Given the description of an element on the screen output the (x, y) to click on. 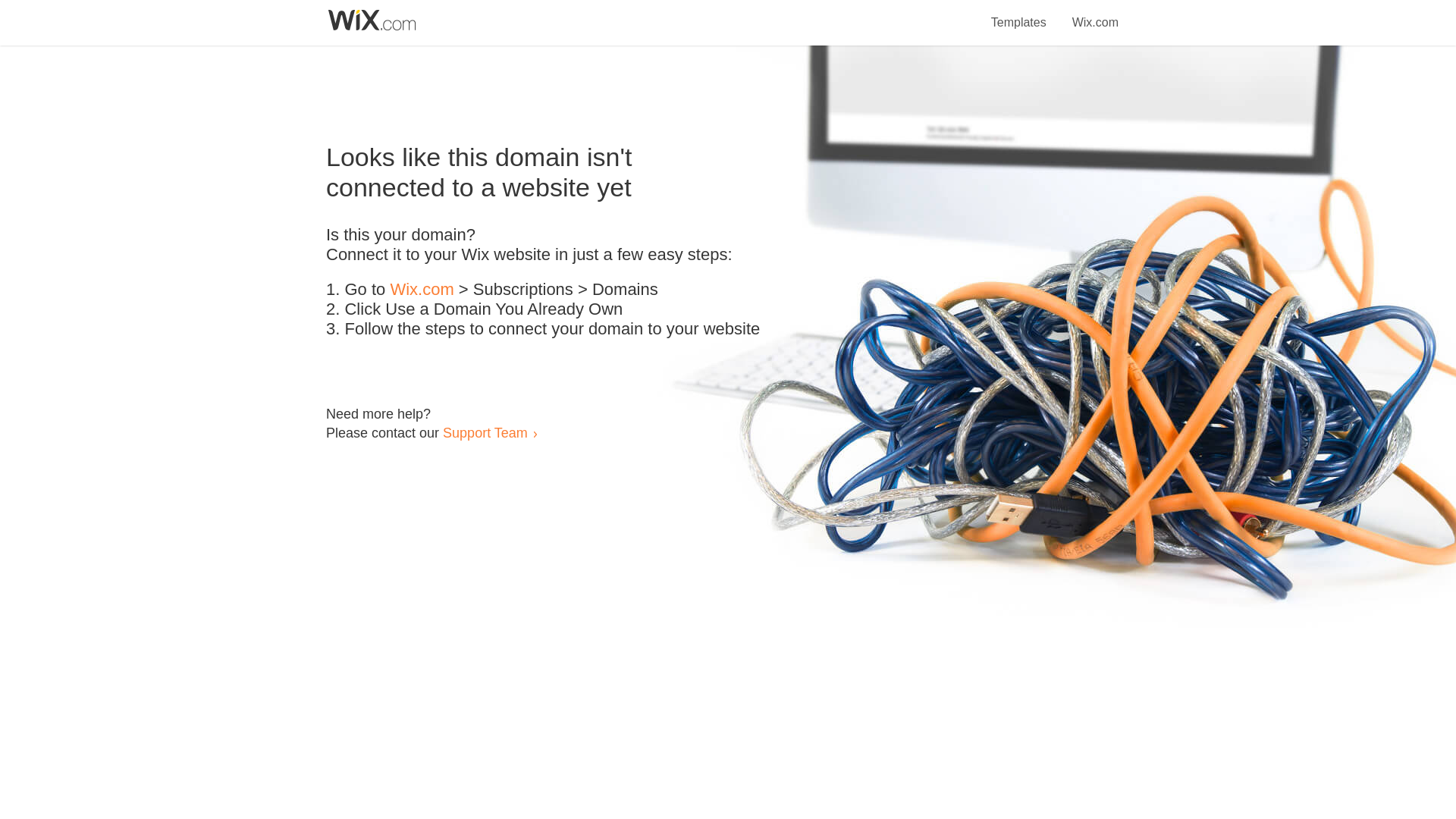
Wix.com (1095, 14)
Wix.com (421, 289)
Support Team (484, 432)
Templates (1018, 14)
